Given the description of an element on the screen output the (x, y) to click on. 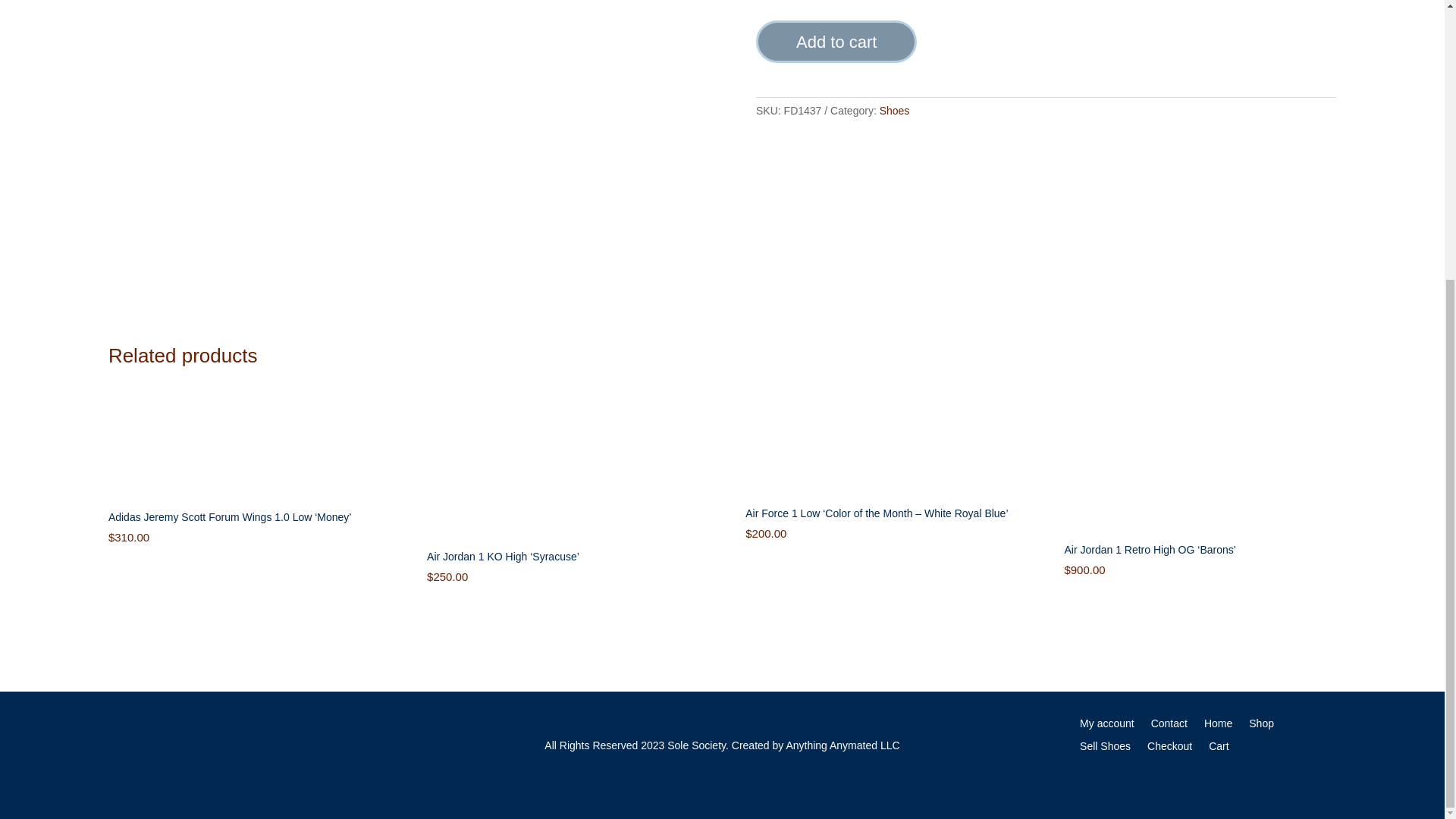
My account (1107, 726)
Sell Shoes (1105, 749)
Home (1217, 726)
Shop (1261, 726)
Checkout (1169, 749)
Shoes (894, 110)
Contact (1169, 726)
Cart (1218, 749)
Add to cart (836, 41)
